Given the description of an element on the screen output the (x, y) to click on. 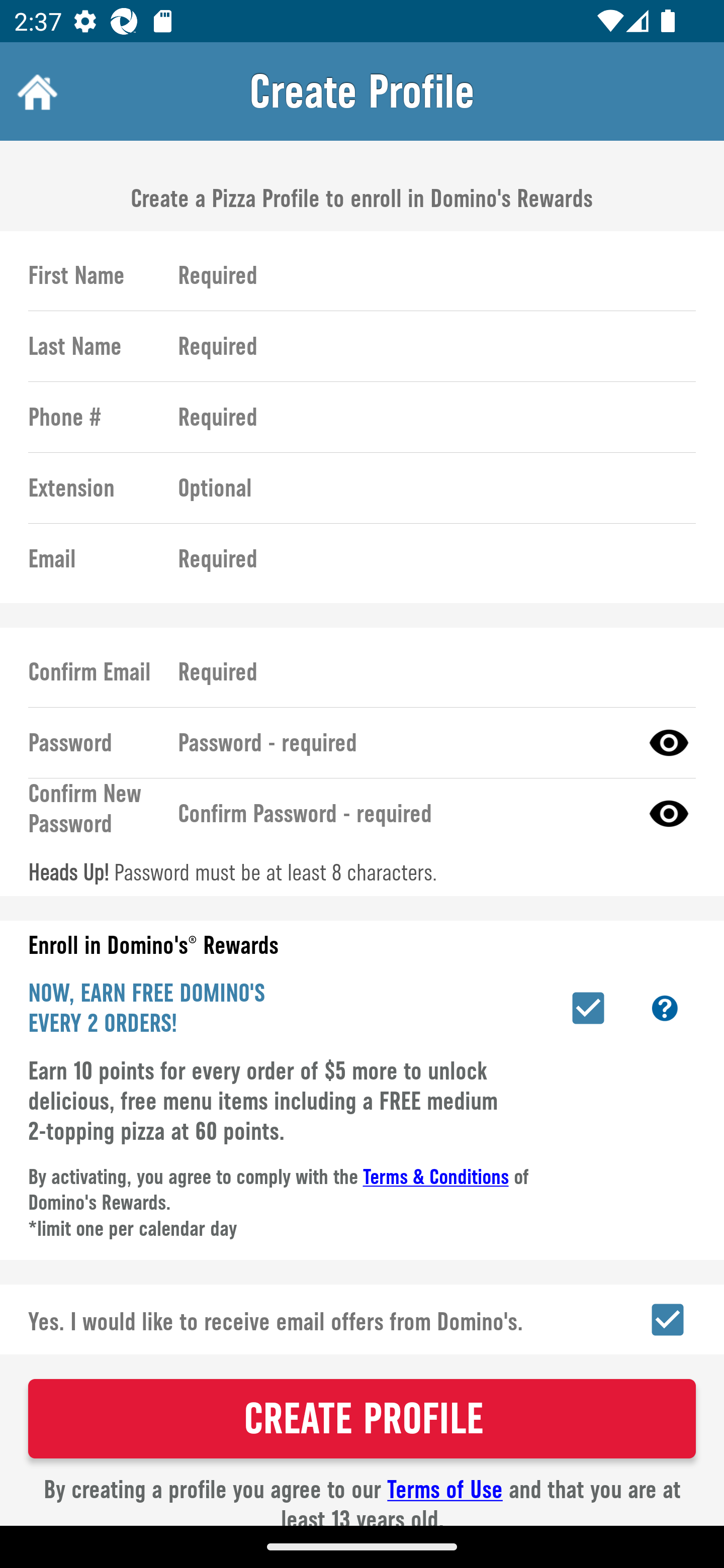
Home (35, 91)
Required First Name is required. 
 (427, 274)
Required Last Name is required. 
 (427, 345)
Required Phone Number is required. 
 (427, 416)
Optional Phone extension, optional (427, 488)
Required Email is required. 
 (427, 558)
Required Confirm Email Address (427, 671)
Password - required (401, 742)
Show Password (668, 742)
Confirm Password - required (401, 812)
Show Password (668, 812)
Enroll in Piece of the Pie Rewards (588, 1008)
CREATE PROFILE (361, 1418)
